Given the description of an element on the screen output the (x, y) to click on. 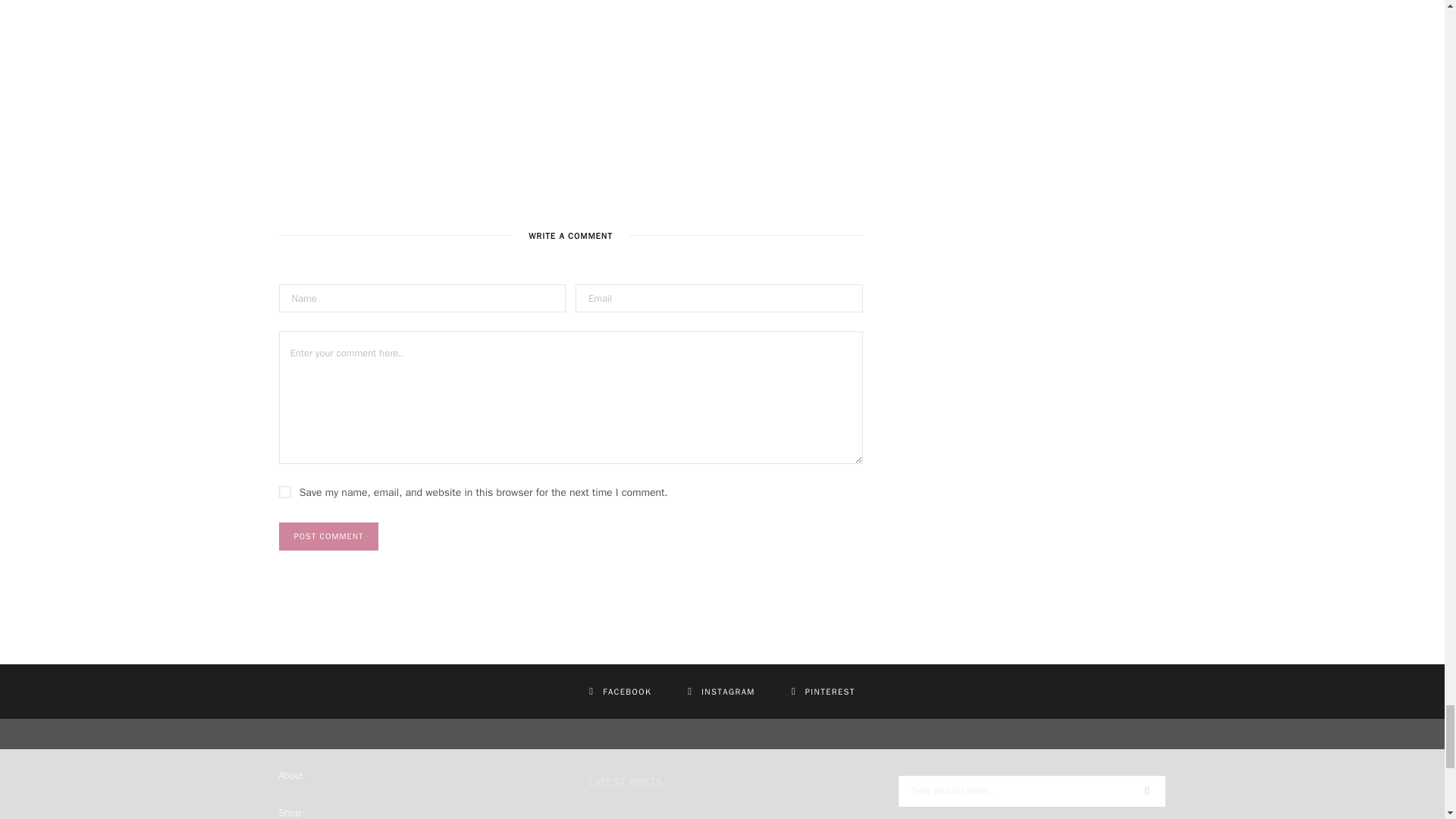
yes (285, 491)
Post Comment (328, 536)
